Given the description of an element on the screen output the (x, y) to click on. 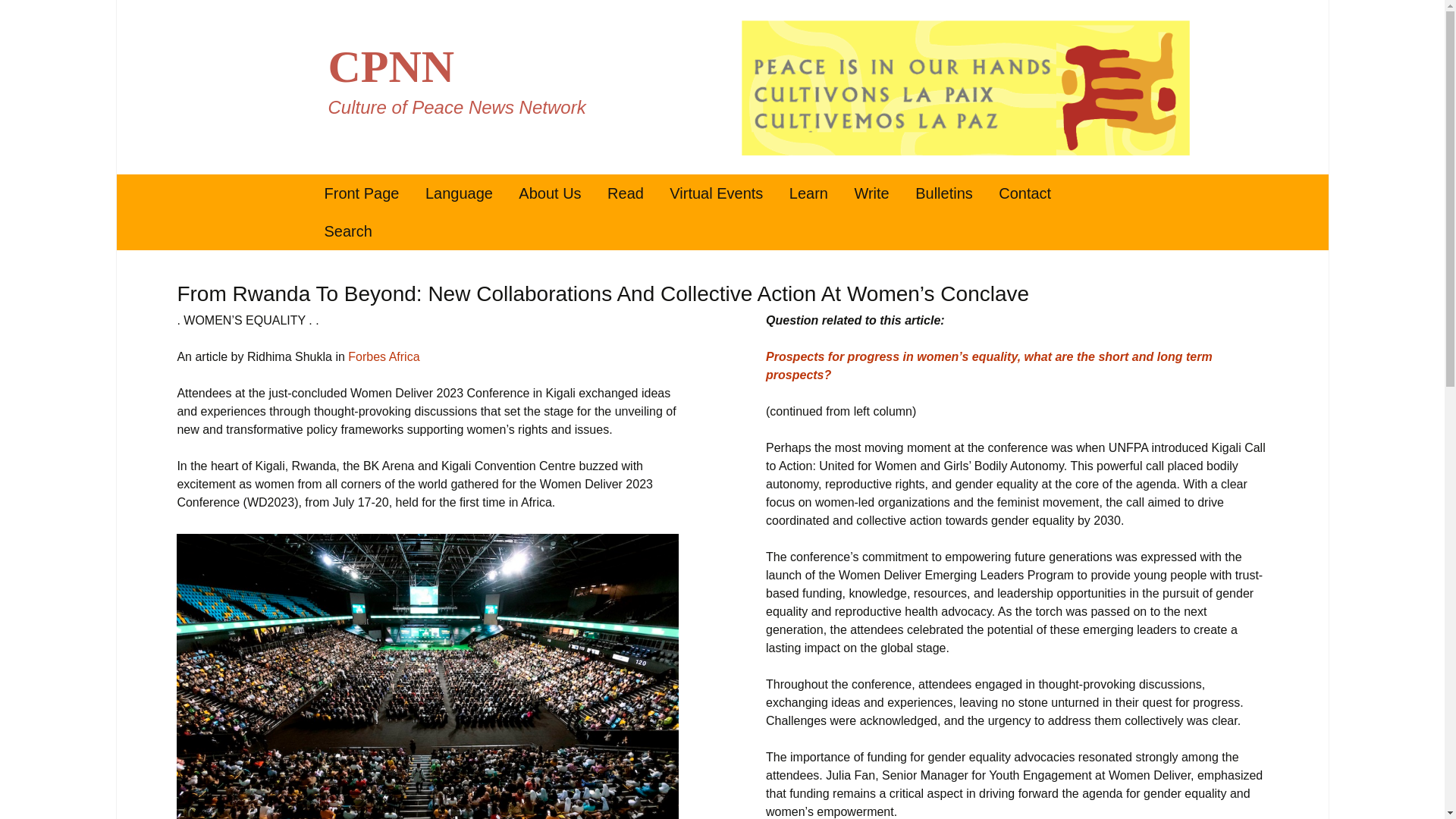
Contact (1024, 193)
Language (458, 193)
United Nations (853, 231)
French (489, 231)
Bulletins (944, 193)
Search (18, 15)
Read (625, 193)
Virtual Events (716, 193)
Rules (549, 193)
Forbes Africa (918, 231)
Front Page (383, 356)
Skip to content (361, 193)
